Given the description of an element on the screen output the (x, y) to click on. 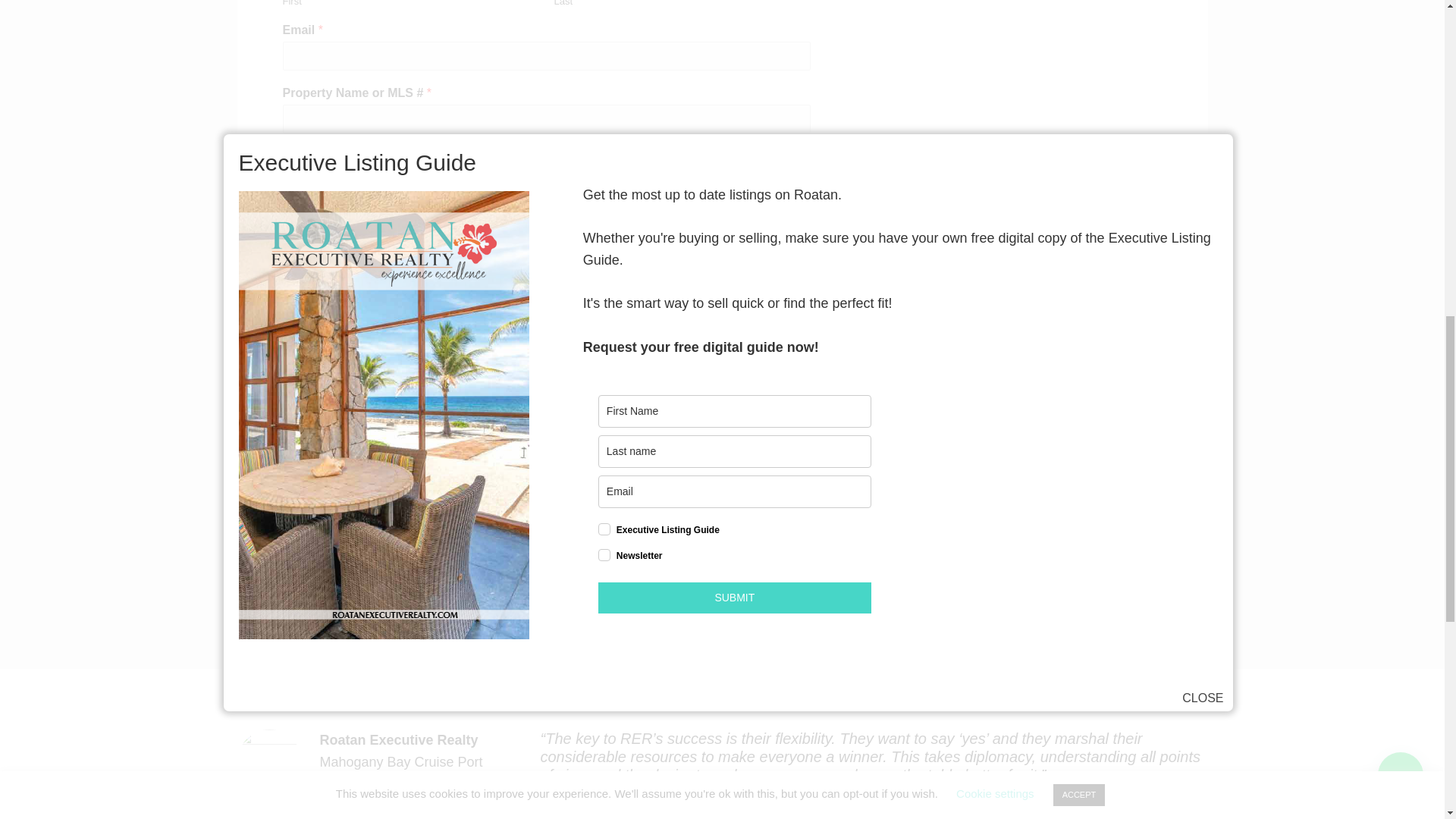
Submit (315, 367)
Yes, please! (290, 176)
